Given the description of an element on the screen output the (x, y) to click on. 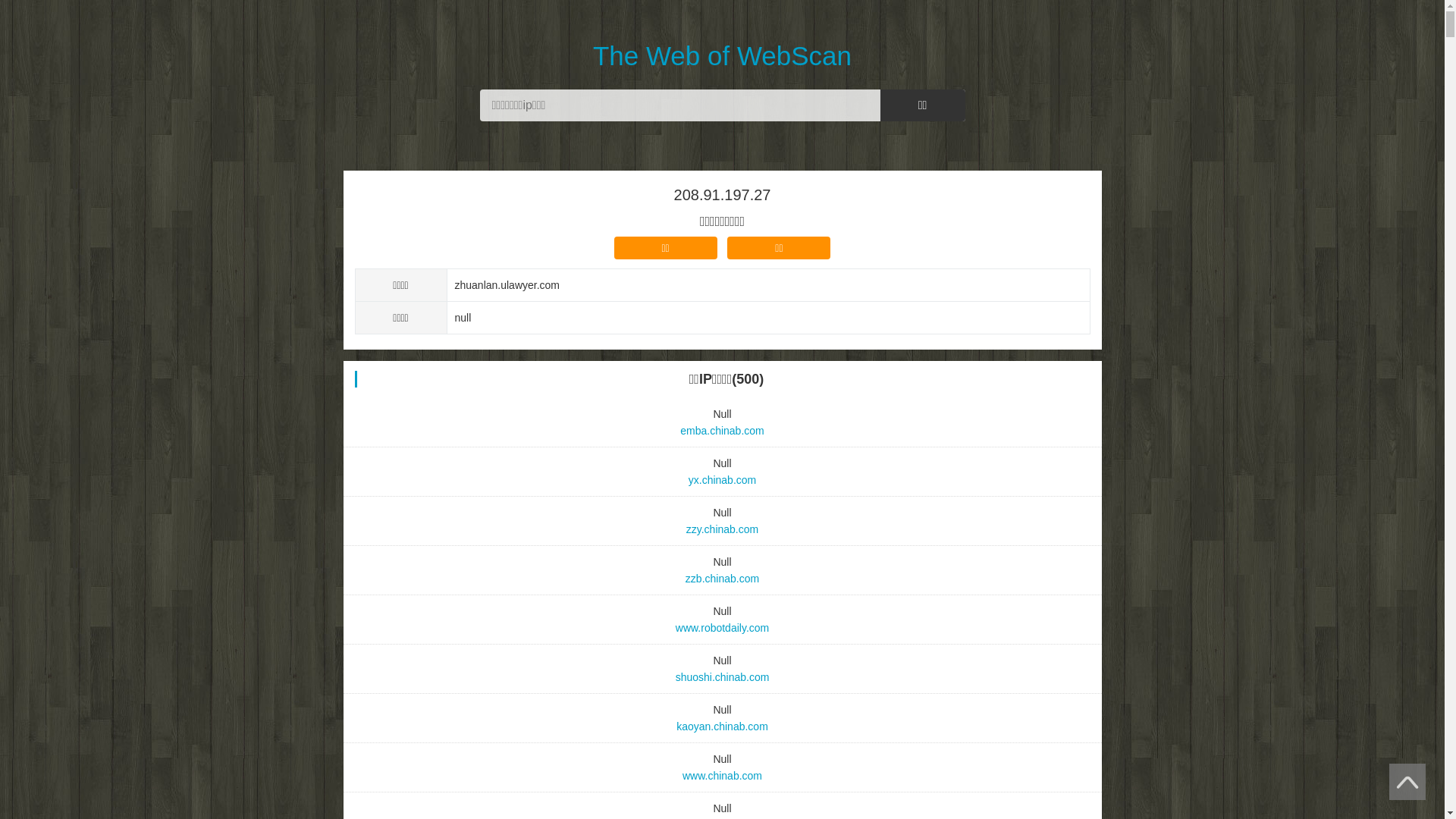
www.chinab.com Element type: text (722, 775)
zzb.chinab.com Element type: text (722, 578)
kaoyan.chinab.com Element type: text (722, 726)
The Web of WebScan Element type: text (722, 36)
emba.chinab.com Element type: text (722, 430)
shuoshi.chinab.com Element type: text (722, 676)
yx.chinab.com Element type: text (722, 479)
zzy.chinab.com Element type: text (722, 528)
www.robotdaily.com Element type: text (722, 627)
